Given the description of an element on the screen output the (x, y) to click on. 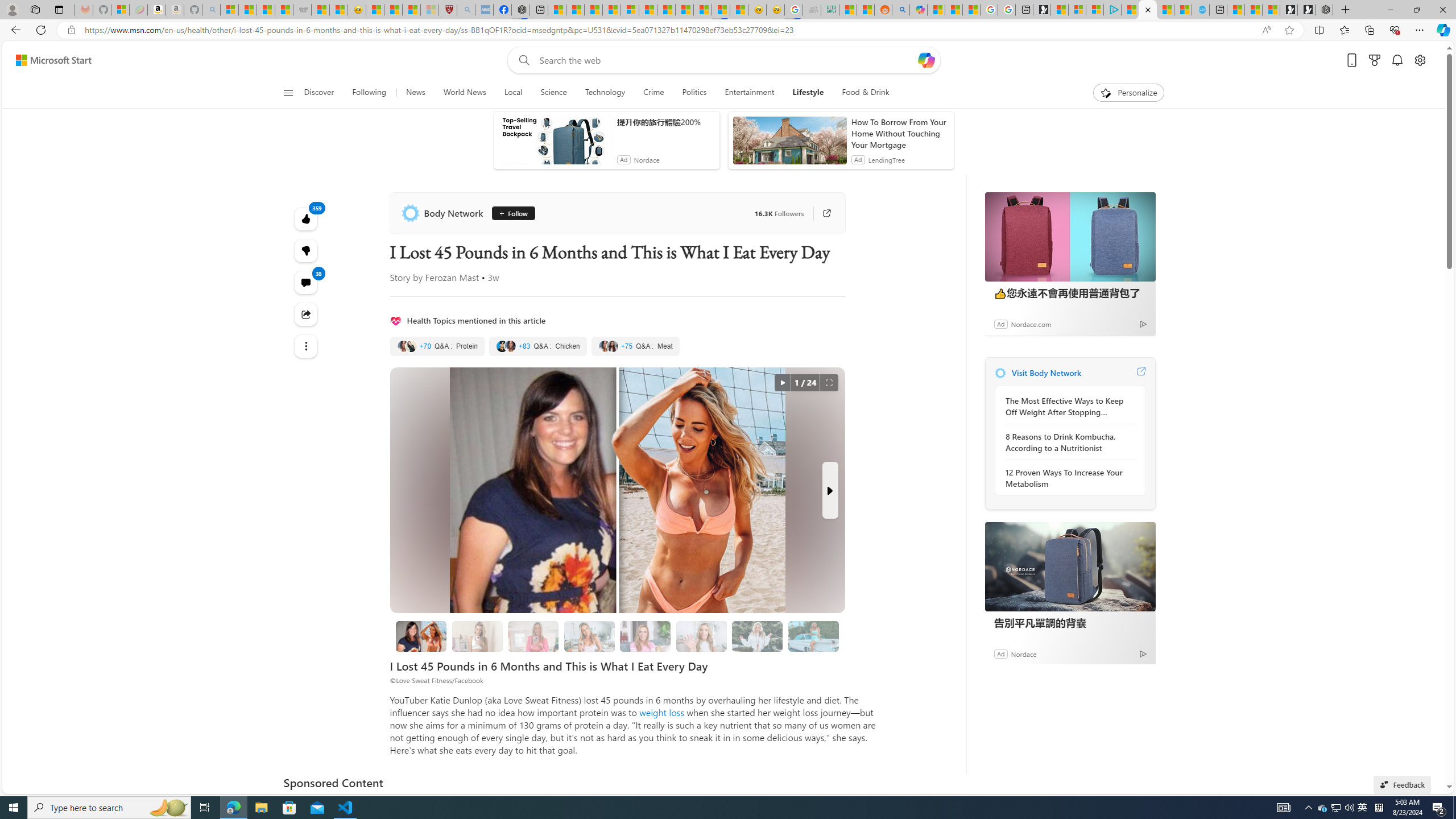
15 Katie Stopped Trash Talking Yourself (700, 635)
15 Katie Stopped Trash Talking Yourself (701, 636)
5 Why? Body Weight Fluctuates Daily (756, 636)
